Given the description of an element on the screen output the (x, y) to click on. 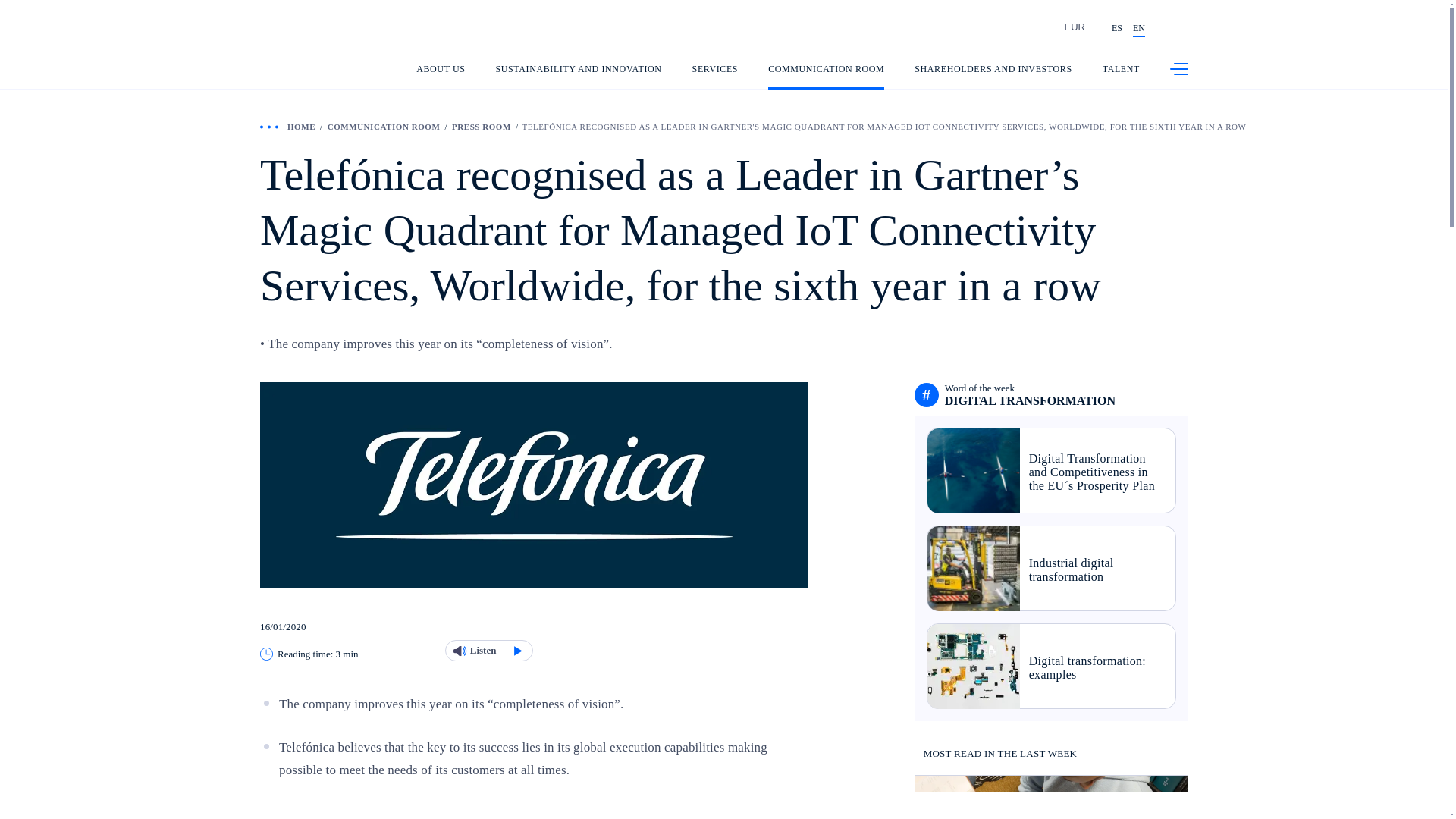
SUSTAINABILITY AND INNOVATION (579, 76)
Word of the week (1029, 394)
EN (1138, 29)
Listen to this page with ReadSpeaker webReader (488, 649)
ABOUT US (440, 76)
Info BME (1005, 28)
